Given the description of an element on the screen output the (x, y) to click on. 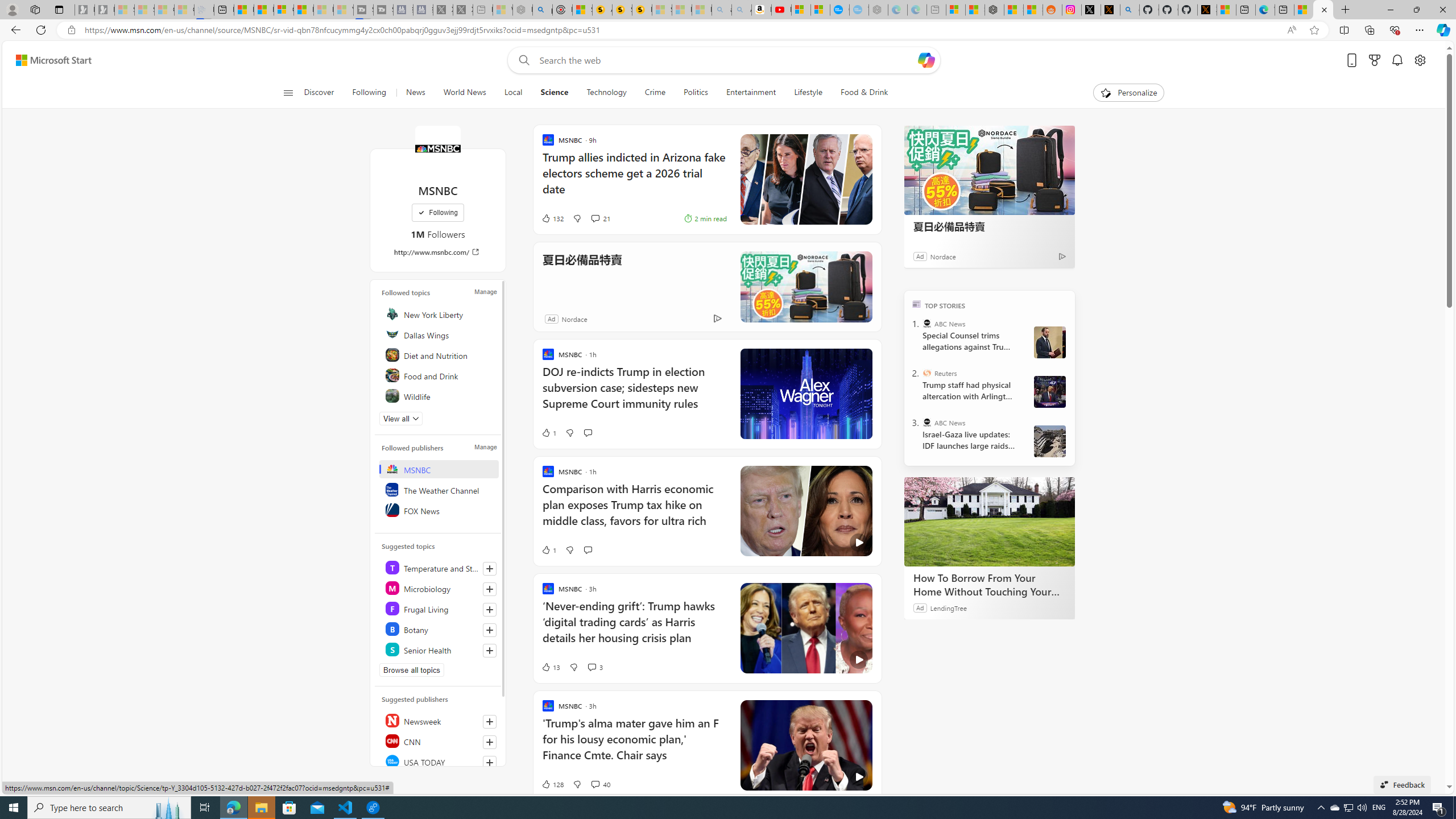
Food & Drink (864, 92)
Amazon Echo Dot PNG - Search Images - Sleeping (741, 9)
Microsoft Start - Sleeping (322, 9)
Browse all topics (412, 669)
Web search (520, 60)
X Privacy Policy (1206, 9)
Open settings (1420, 60)
poe - Search (542, 9)
Nordace - Nordace has arrived Hong Kong - Sleeping (877, 9)
